Given the description of an element on the screen output the (x, y) to click on. 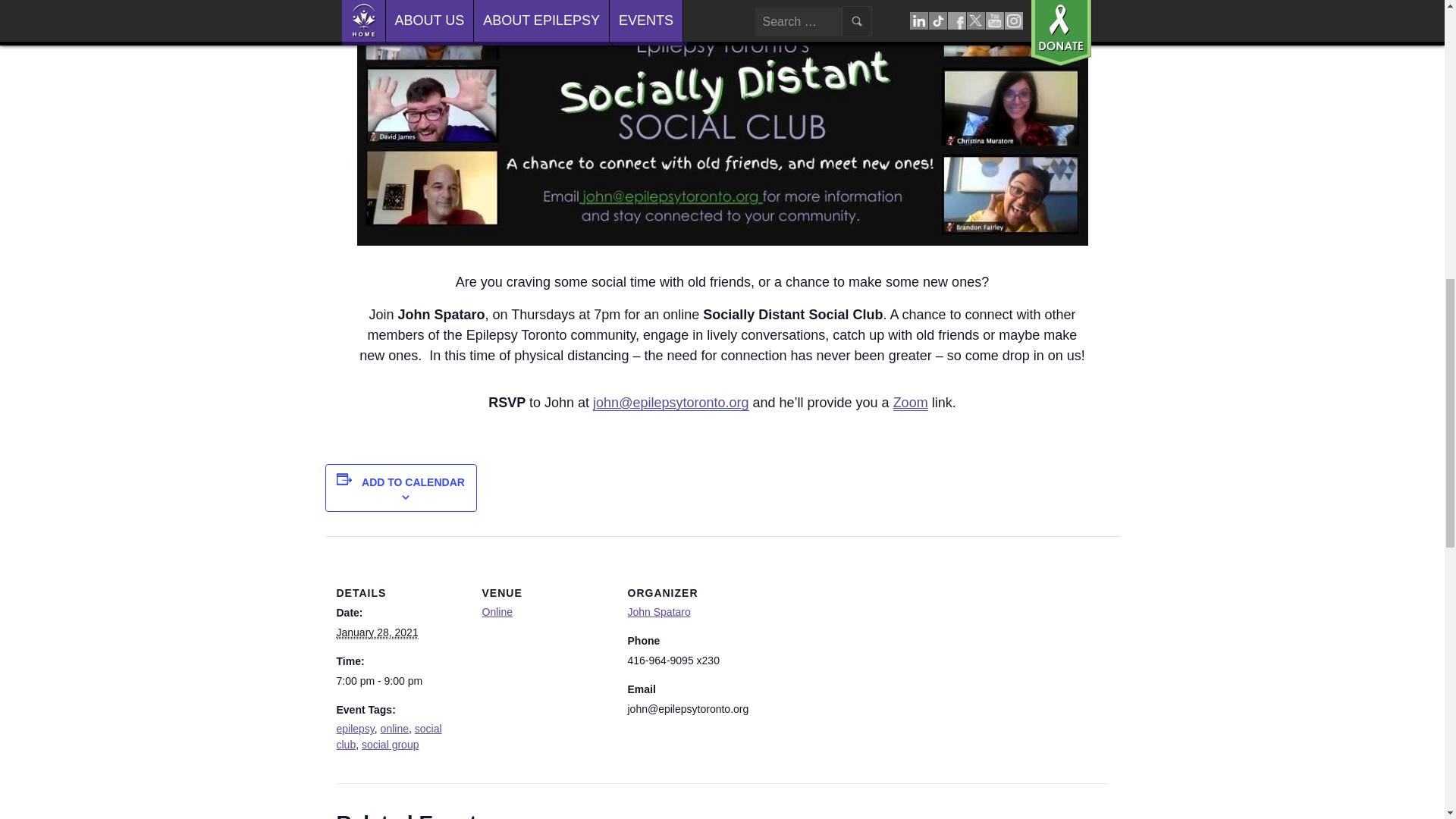
John Spataro (658, 612)
2021-01-28 (377, 632)
2021-01-28 (400, 681)
